Given the description of an element on the screen output the (x, y) to click on. 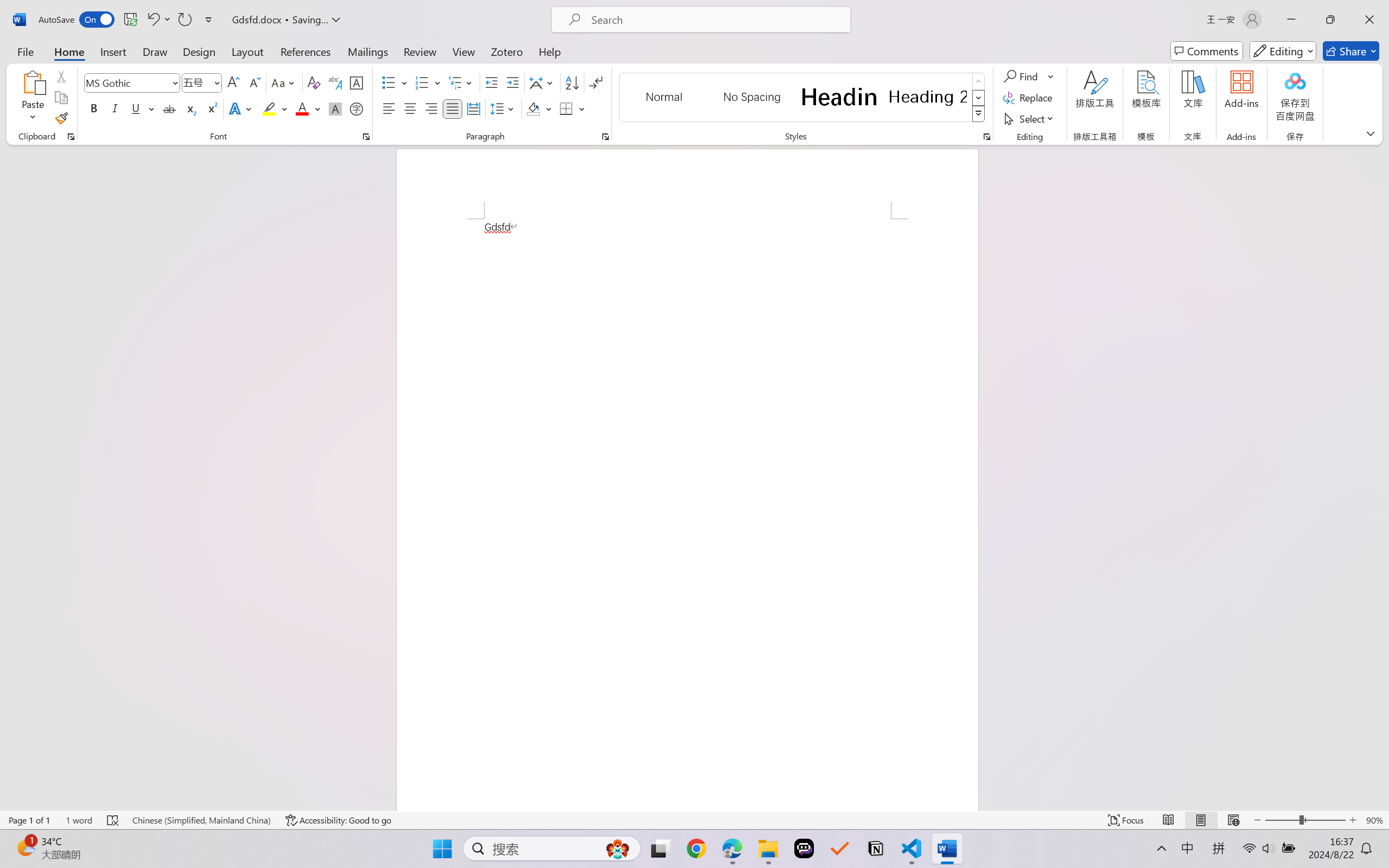
Justify (452, 108)
Text Highlight Color (274, 108)
Office Clipboard... (70, 136)
Sort... (571, 82)
Zoom 90% (1374, 819)
AutomationID: QuickStylesGallery (802, 97)
